Given the description of an element on the screen output the (x, y) to click on. 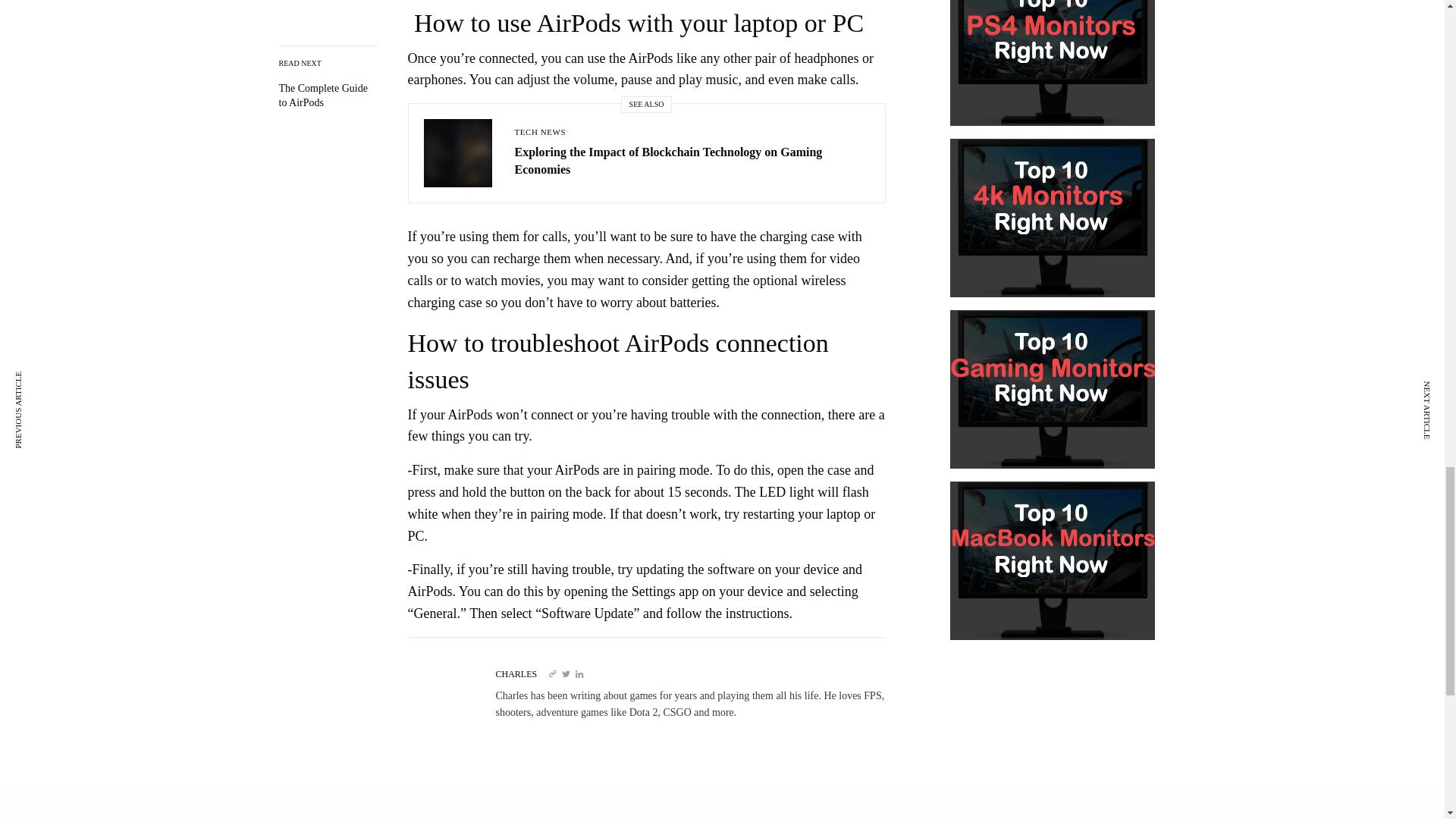
CHARLES (516, 673)
TECH NEWS (539, 131)
